Given the description of an element on the screen output the (x, y) to click on. 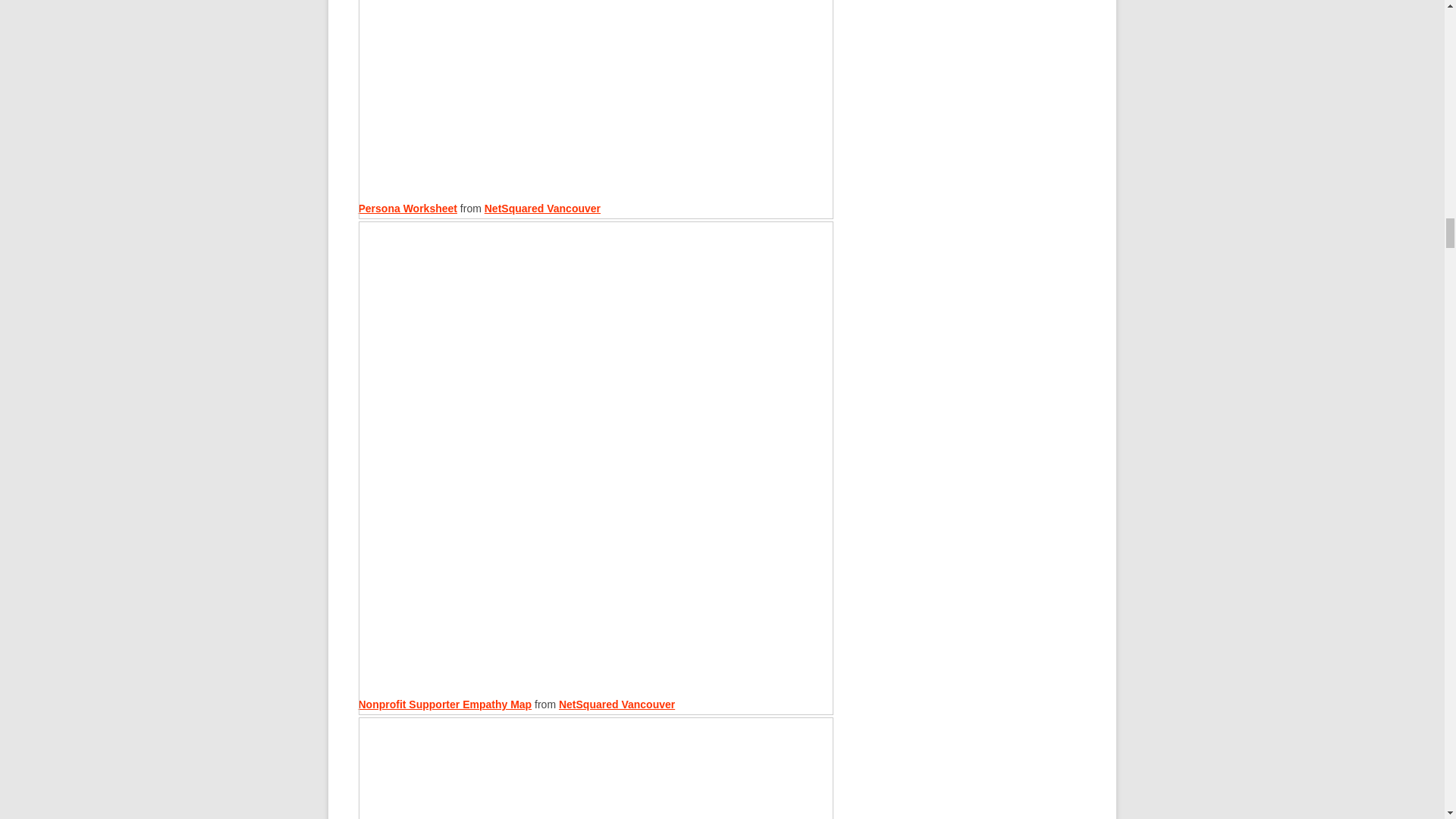
Persona Worksheet (407, 208)
Persona Worksheet (595, 109)
